Given the description of an element on the screen output the (x, y) to click on. 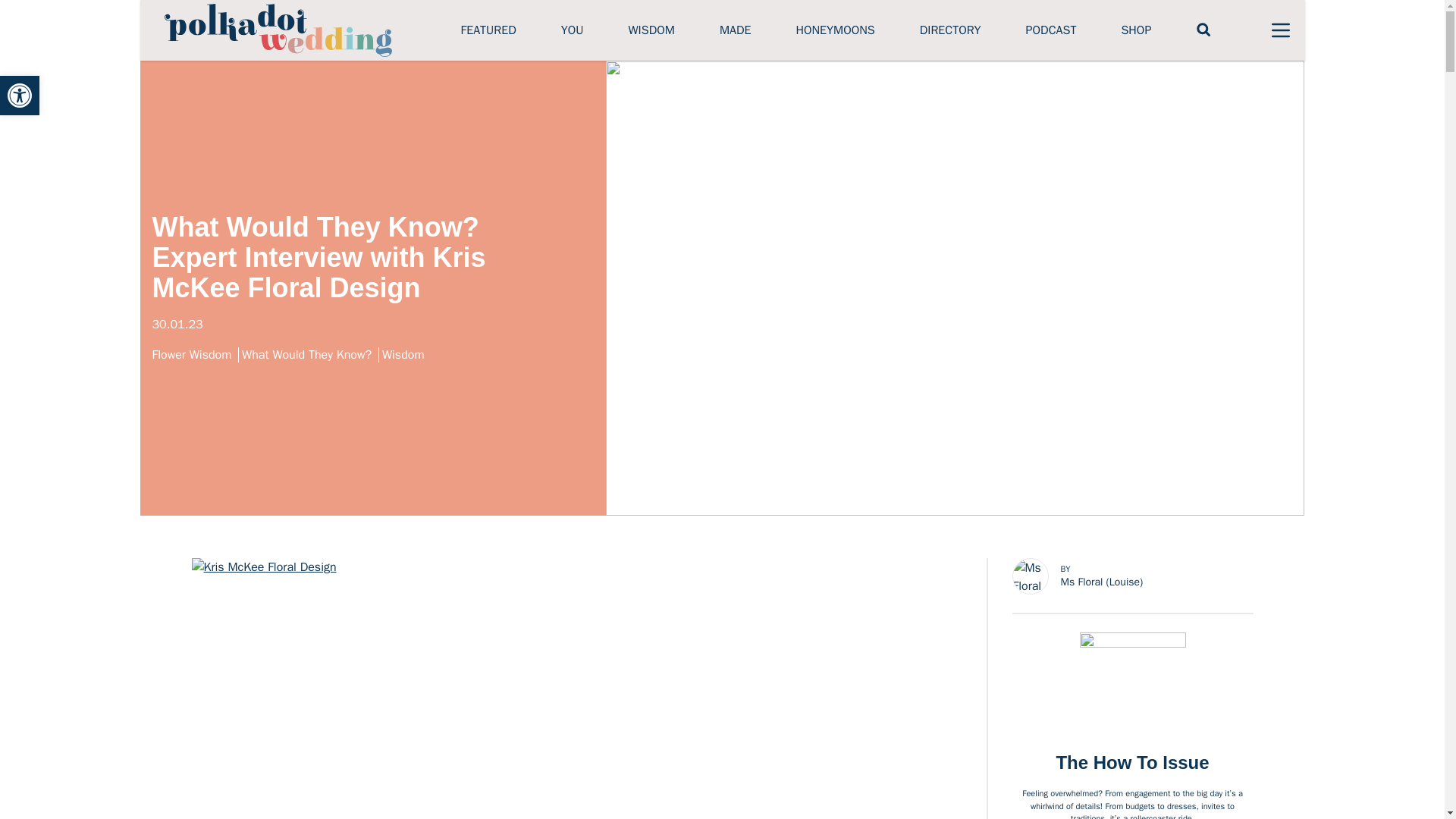
Accessibility Tools (19, 95)
WISDOM (650, 29)
DIRECTORY (950, 29)
FEATURED (488, 29)
HONEYMOONS (834, 29)
What Would They Know? (309, 354)
YOU (571, 29)
PODCAST (1051, 29)
Wisdom (404, 354)
